Given the description of an element on the screen output the (x, y) to click on. 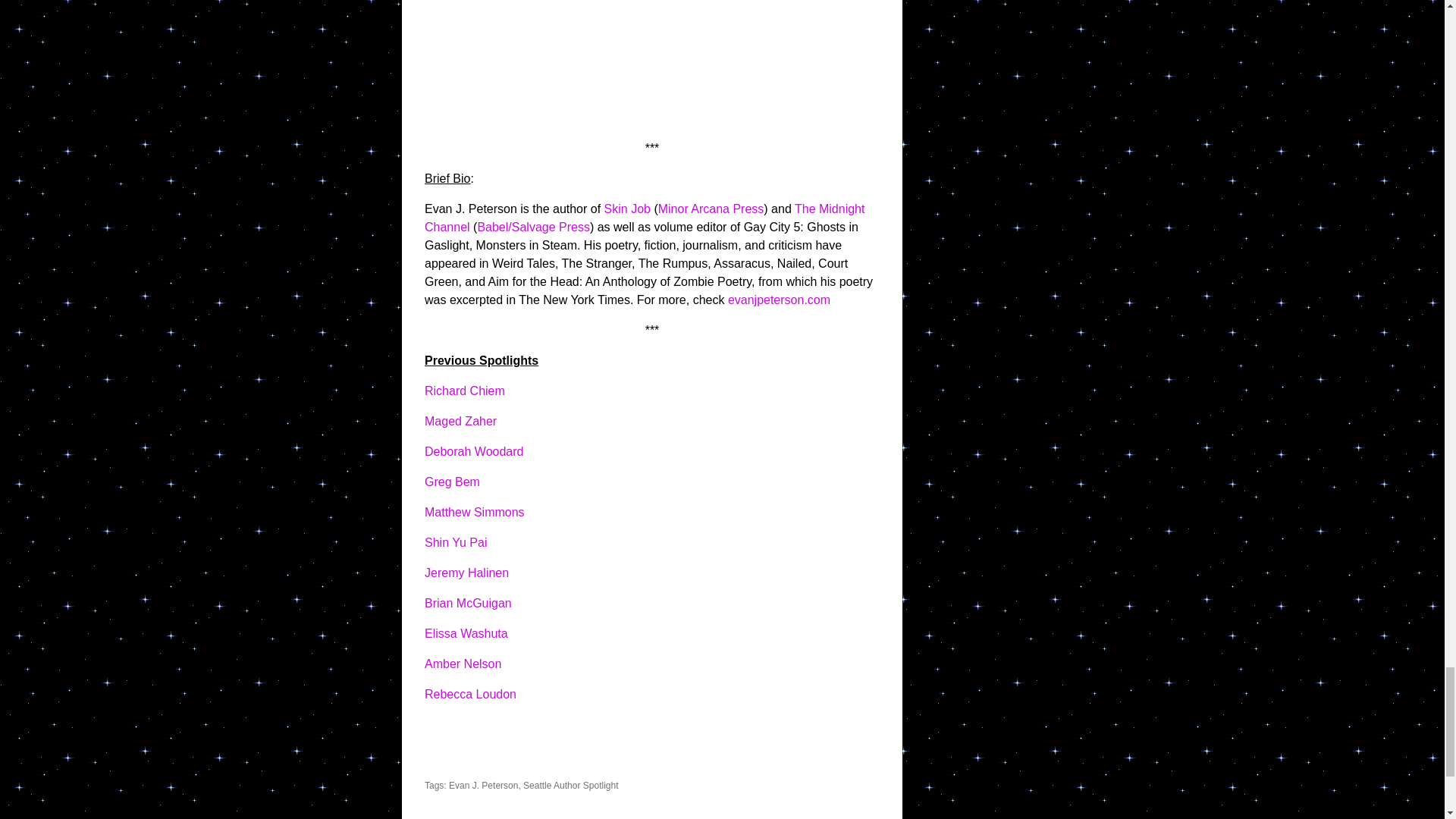
Shin Yu Pai (455, 542)
Richard Chiem (465, 390)
Jeremy Halinen (466, 572)
Seattle Author Spotlight (569, 785)
Deborah Woodard (473, 451)
Amber Nelson (462, 663)
Rebecca Loudon (470, 694)
Elissa Washuta (466, 633)
Brian McGuigan (468, 603)
evanjpeterson.com (778, 299)
